Given the description of an element on the screen output the (x, y) to click on. 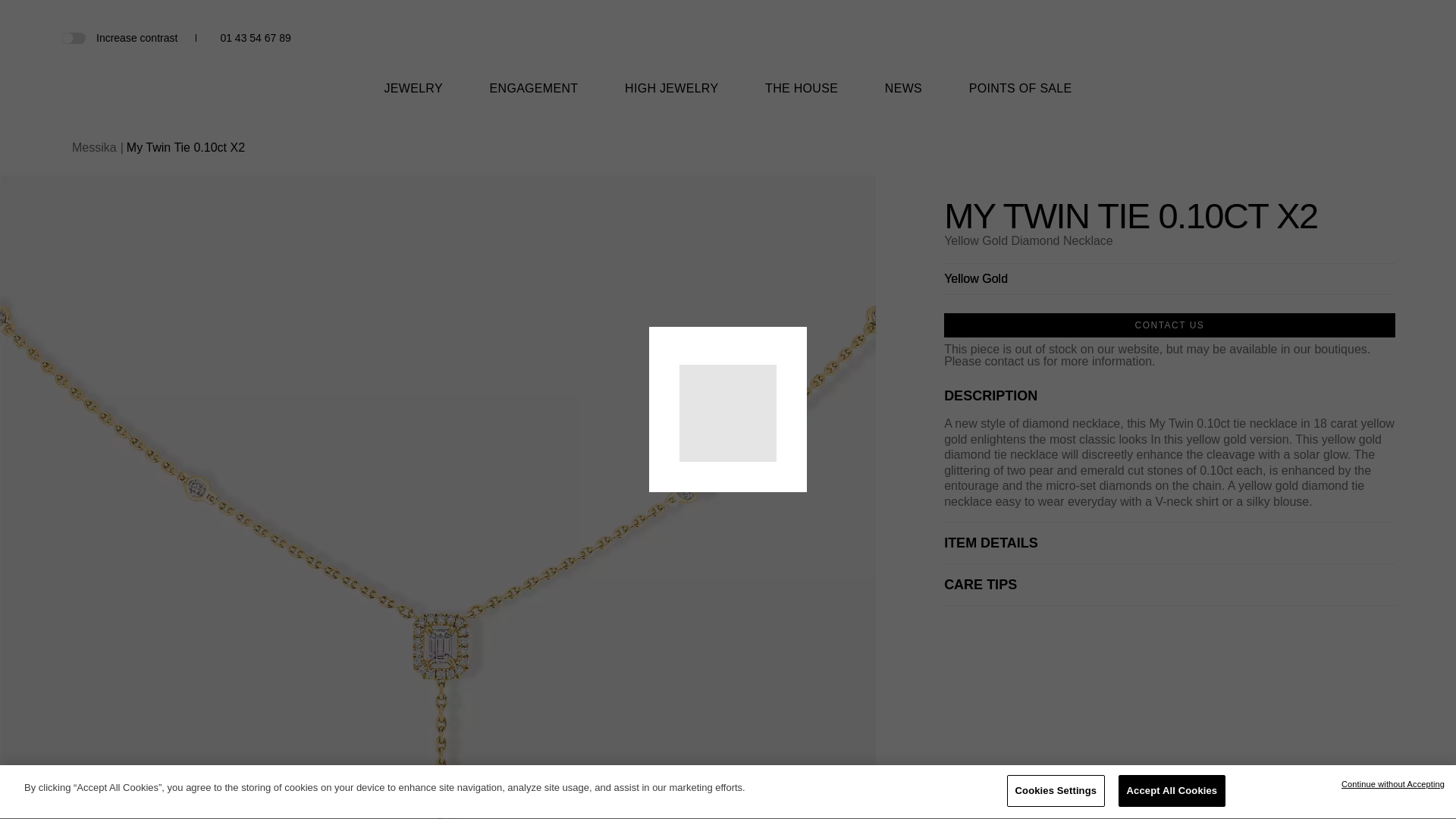
Messika (727, 46)
Search (1335, 39)
Wishlist (1360, 37)
Messika (727, 57)
on (73, 36)
JEWELRY (413, 97)
01 43 54 67 89 (254, 37)
Wishlist (1360, 38)
01 43 54 67 89 (254, 37)
